Given the description of an element on the screen output the (x, y) to click on. 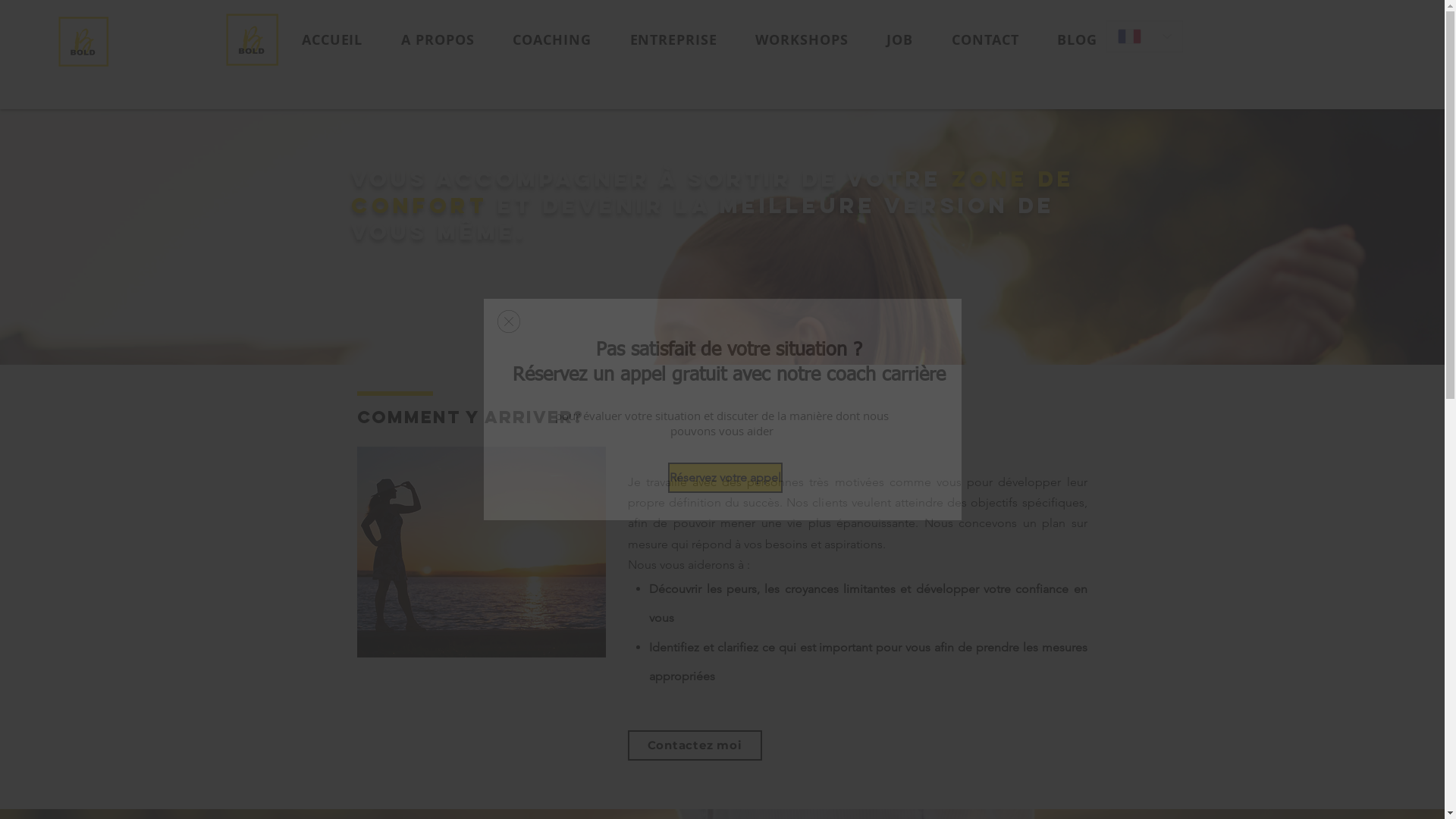
ACCUEIL Element type: text (331, 39)
CONTACT Element type: text (985, 39)
Contactez moi Element type: text (694, 744)
COACHING Element type: text (551, 39)
JOB Element type: text (900, 39)
A PROPOS Element type: text (437, 39)
Retour au site Element type: hover (508, 321)
ENTREPRISE Element type: text (673, 39)
WORKSHOPS Element type: text (801, 39)
BLOG Element type: text (1077, 39)
